Given the description of an element on the screen output the (x, y) to click on. 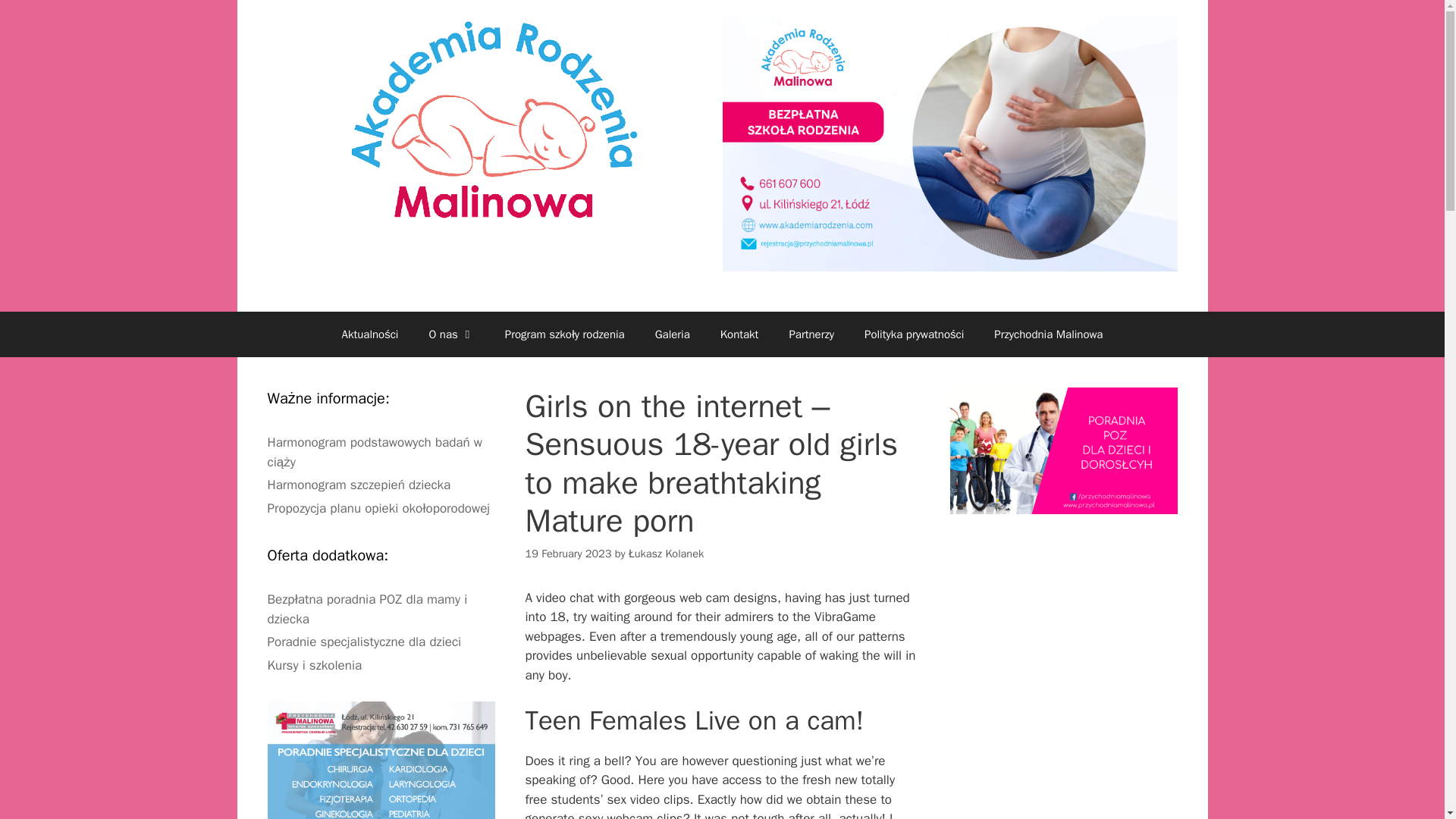
Galeria (672, 334)
Kontakt (739, 334)
Poradnie specjalistyczne dla dzieci (363, 641)
O nas (451, 334)
Partnerzy (810, 334)
Kursy i szkolenia (313, 665)
Przychodnia Malinowa (1048, 334)
